Given the description of an element on the screen output the (x, y) to click on. 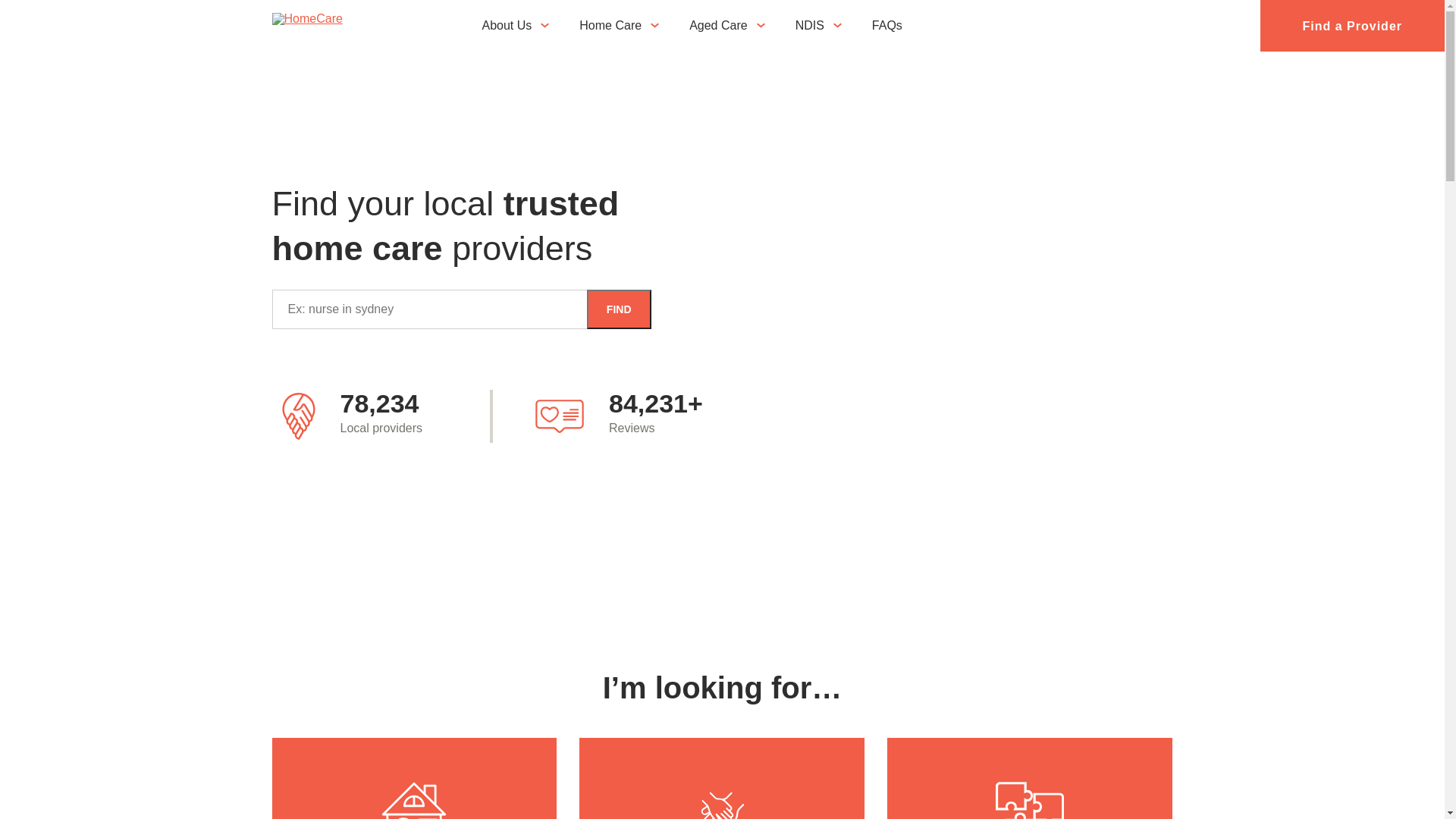
About Us Element type: text (514, 25)
NDIS Element type: text (817, 25)
FIND Element type: text (618, 309)
Aged Care Element type: text (725, 25)
Find a Provider Element type: text (1352, 25)
FAQs Element type: text (894, 25)
Home Care Element type: text (617, 25)
